Given the description of an element on the screen output the (x, y) to click on. 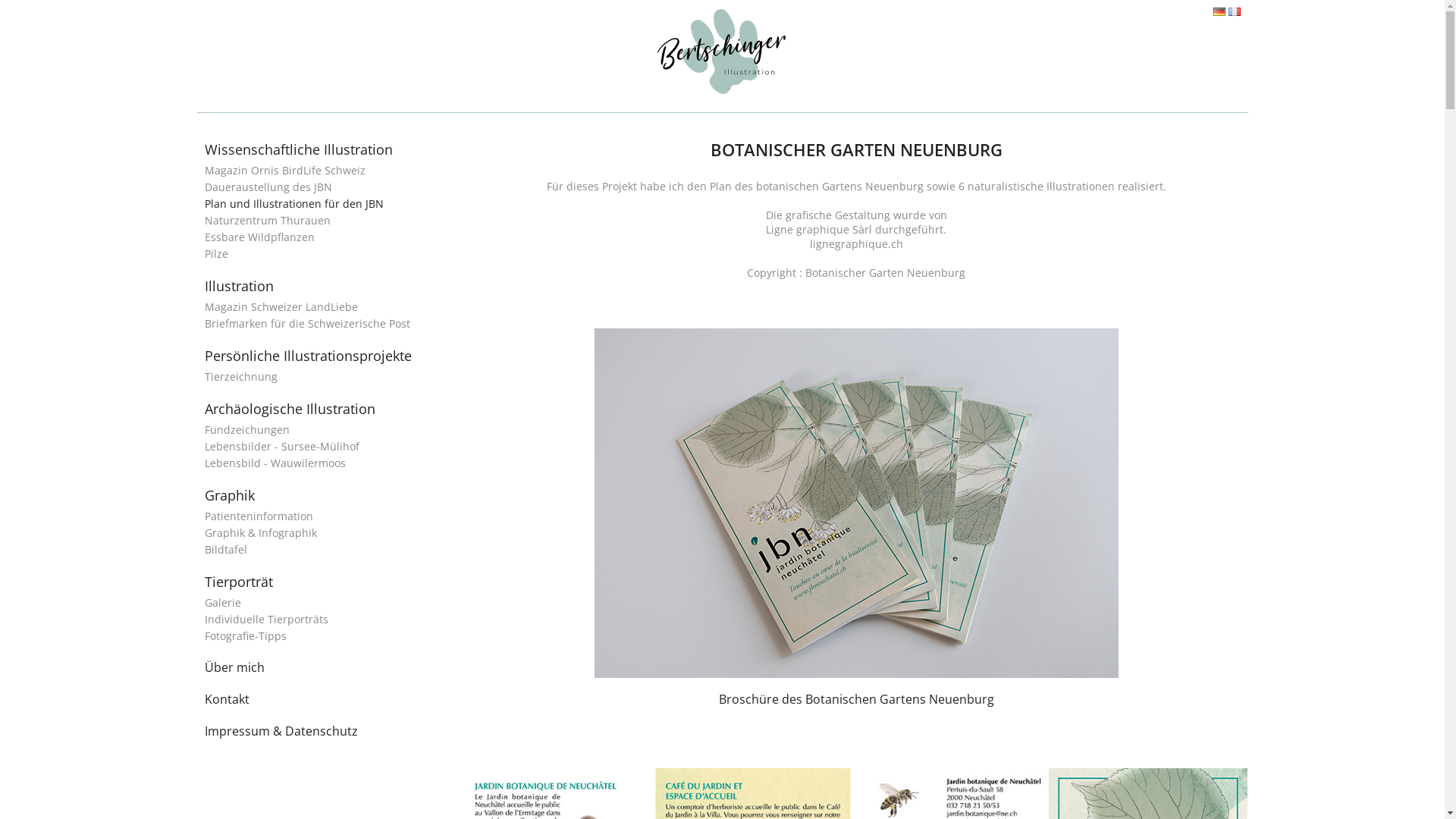
deutsch Element type: hover (1219, 11)
Patienteninformation Element type: text (258, 515)
Daueraustellung des JBN Element type: text (268, 186)
Wissenschaftliche Illustration Element type: text (298, 149)
Fotografie-Tipps Element type: text (245, 635)
Magazin Schweizer LandLiebe Element type: text (280, 306)
Bildtafel Element type: text (225, 549)
Kontakt Element type: text (226, 698)
Essbare Wildpflanzen Element type: text (259, 236)
Magazin Ornis BirdLife Schweiz Element type: text (284, 170)
Graphik & Infographik Element type: text (260, 532)
Illustration Element type: text (238, 285)
Lebensbild - Wauwilermoos Element type: text (274, 462)
Naturzentrum Thurauen Element type: text (267, 220)
Impressum & Datenschutz Element type: text (280, 730)
Graphik Element type: text (229, 495)
Pilze Element type: text (216, 253)
Galerie Element type: text (222, 602)
Fundzeichungen Element type: text (246, 429)
Tierzeichnung Element type: text (240, 376)
